Given the description of an element on the screen output the (x, y) to click on. 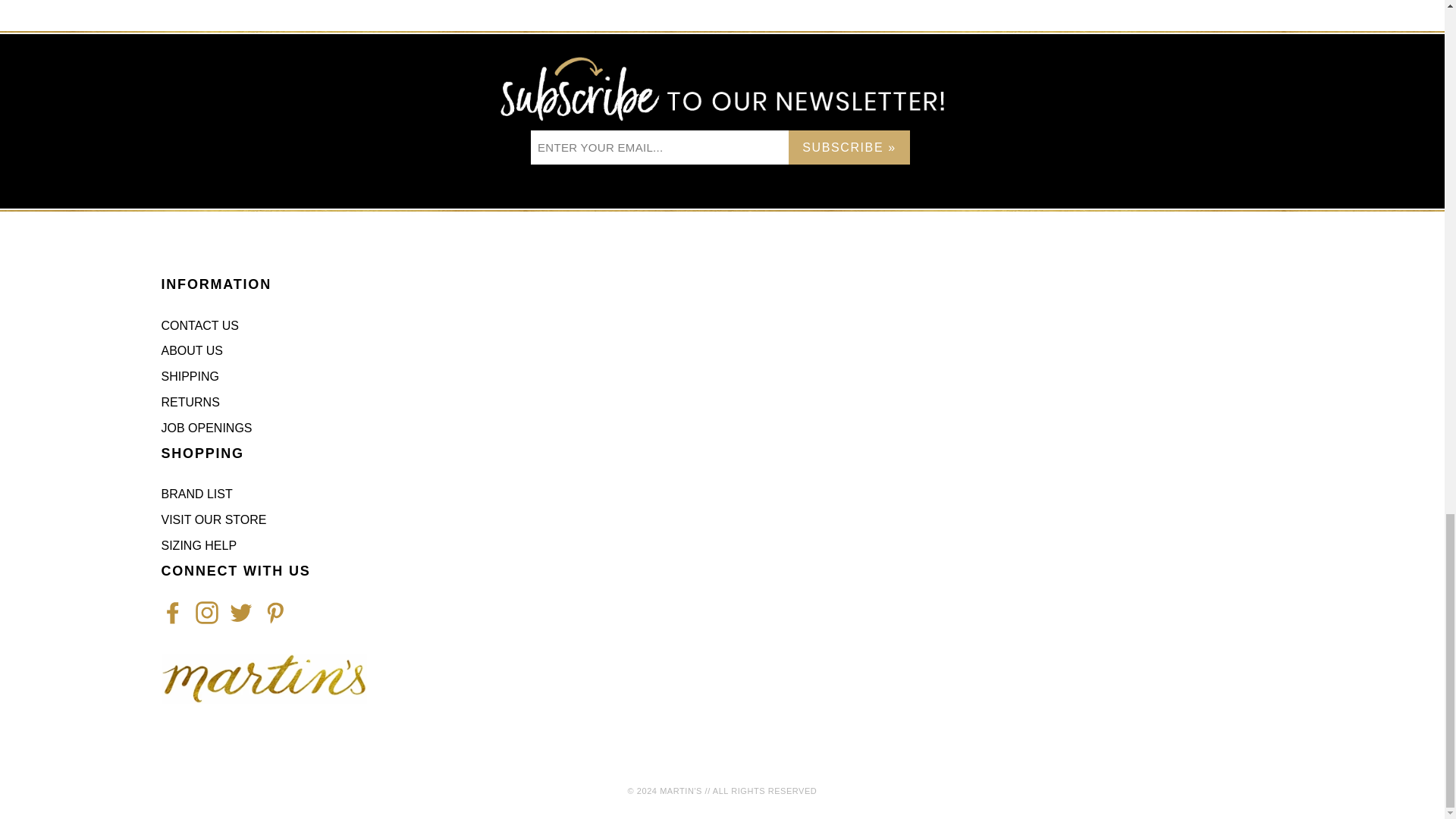
Martin's on Instagram (206, 612)
Martin's on Facebook (171, 612)
Martin's on Twitter (239, 612)
Martin's on Pinterest (274, 612)
